Given the description of an element on the screen output the (x, y) to click on. 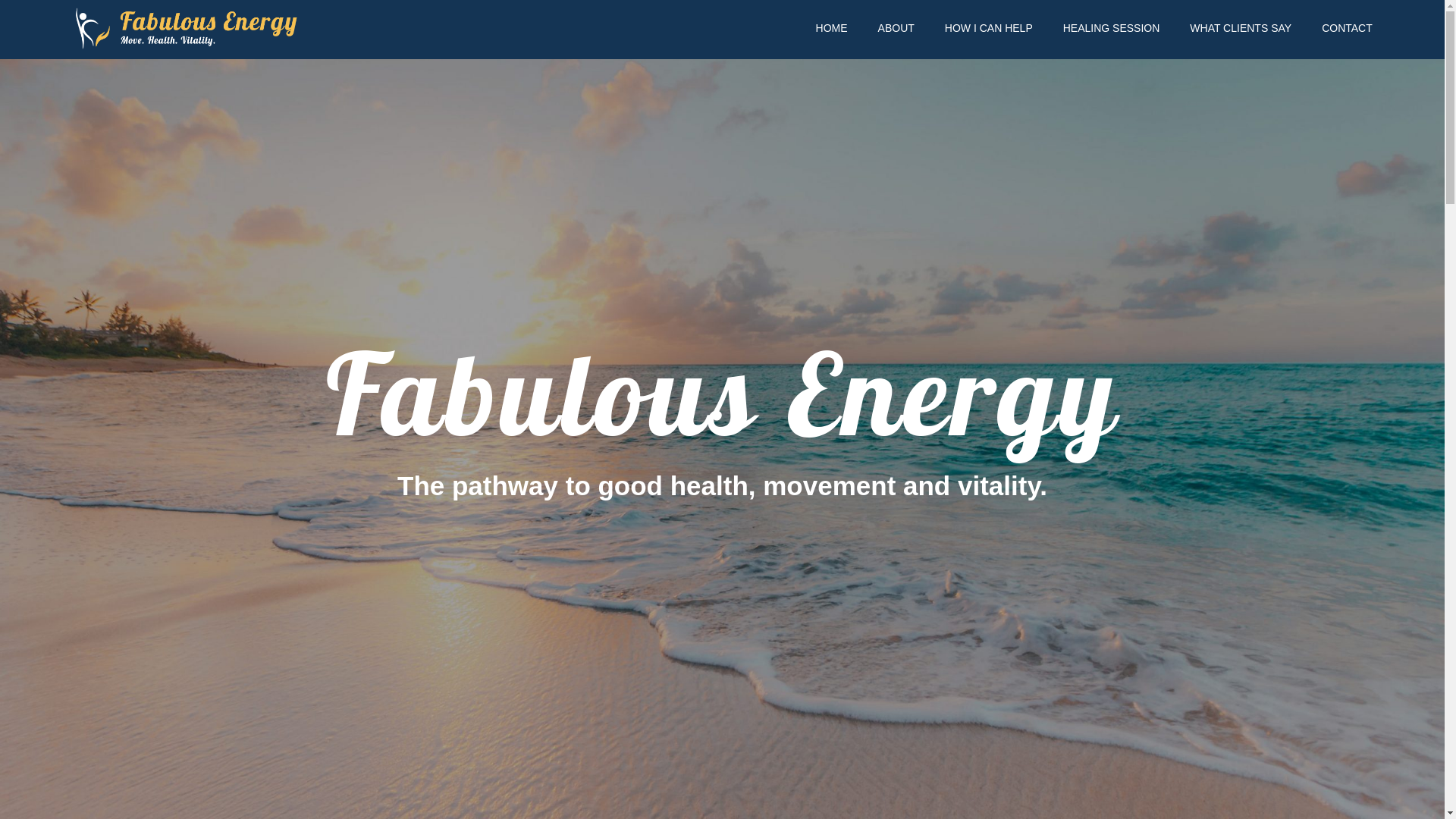
HOME Element type: text (831, 27)
WHAT CLIENTS SAY Element type: text (1240, 27)
ABOUT Element type: text (896, 27)
HOW I CAN HELP Element type: text (988, 27)
HEALING SESSION Element type: text (1111, 27)
CONTACT Element type: text (1346, 27)
